Given the description of an element on the screen output the (x, y) to click on. 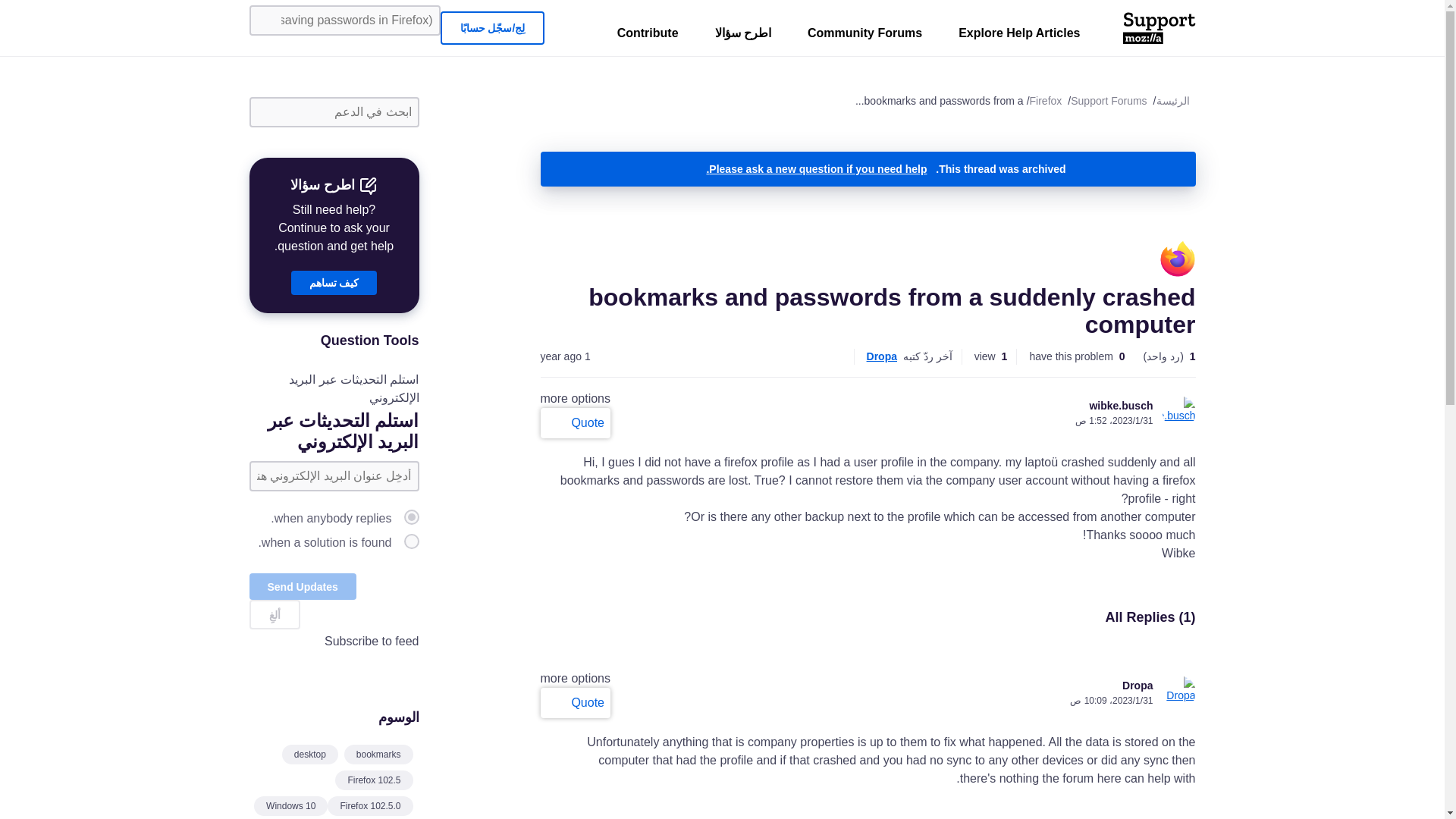
Explore Help Articles (1018, 37)
Send Updates (301, 586)
Community Forums (864, 37)
